Given the description of an element on the screen output the (x, y) to click on. 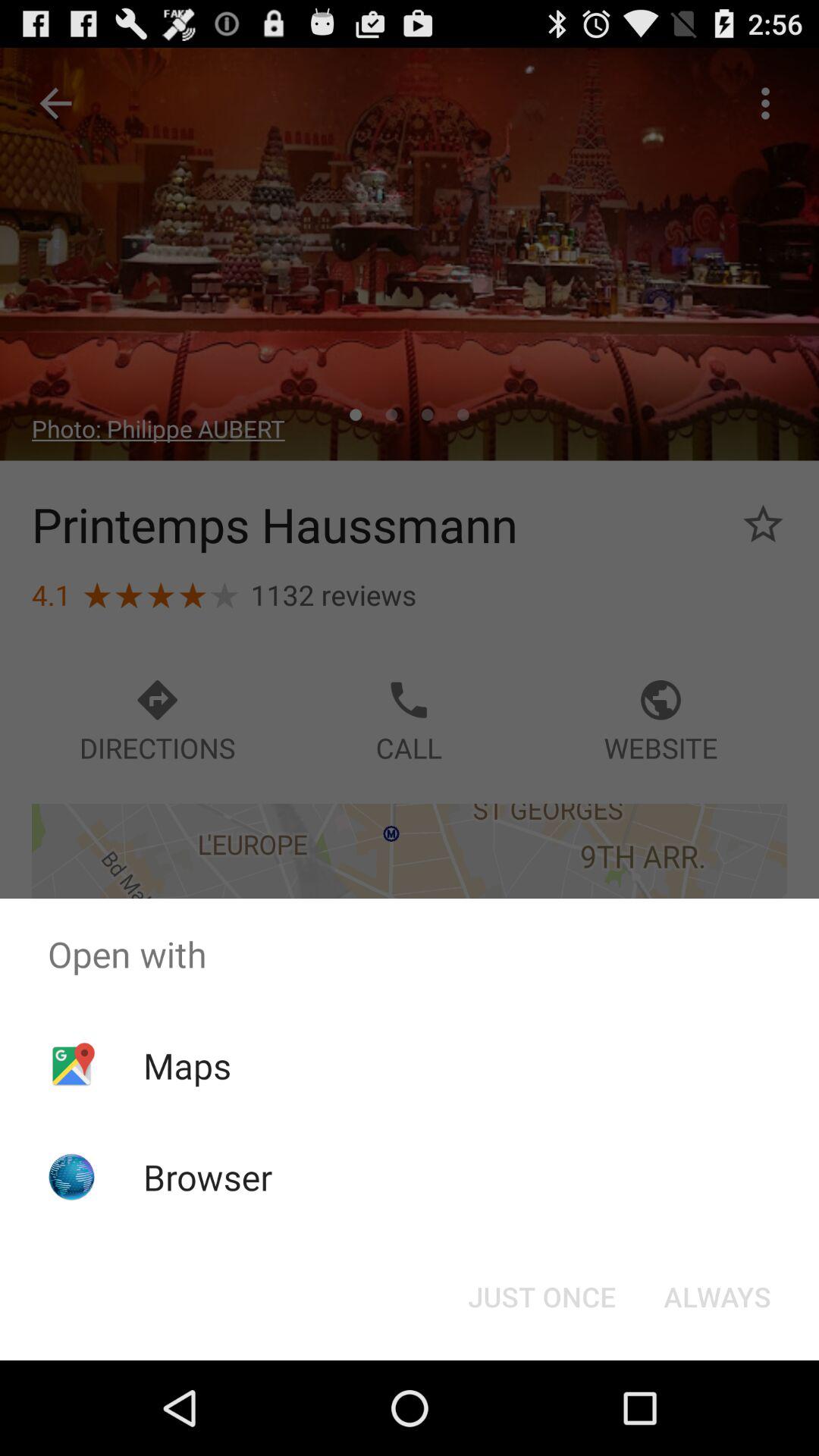
select the item to the left of the always icon (541, 1296)
